Given the description of an element on the screen output the (x, y) to click on. 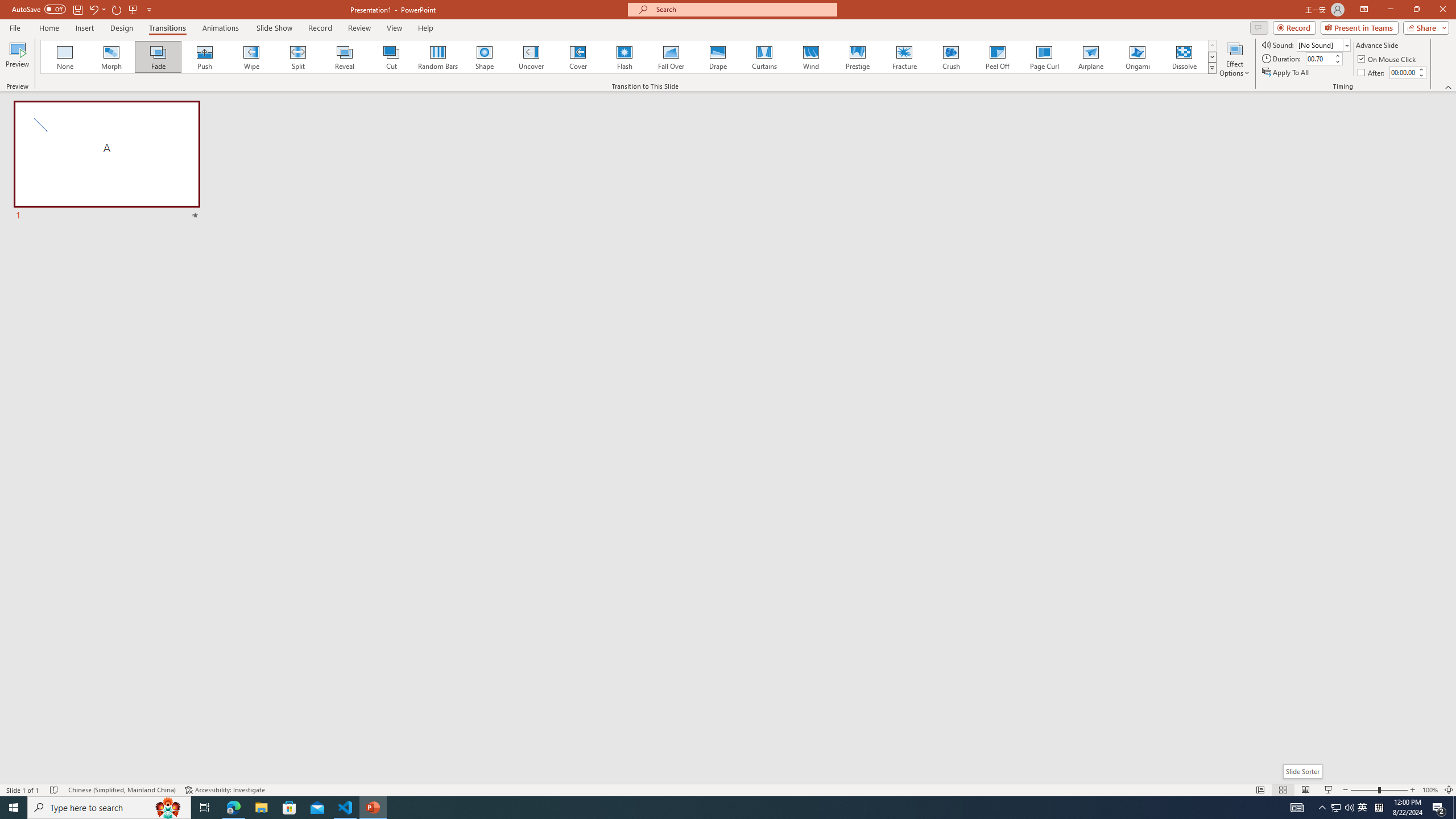
Zoom 100% (1430, 790)
Fade (158, 56)
Origami (1136, 56)
Drape (717, 56)
Fracture (903, 56)
